Given the description of an element on the screen output the (x, y) to click on. 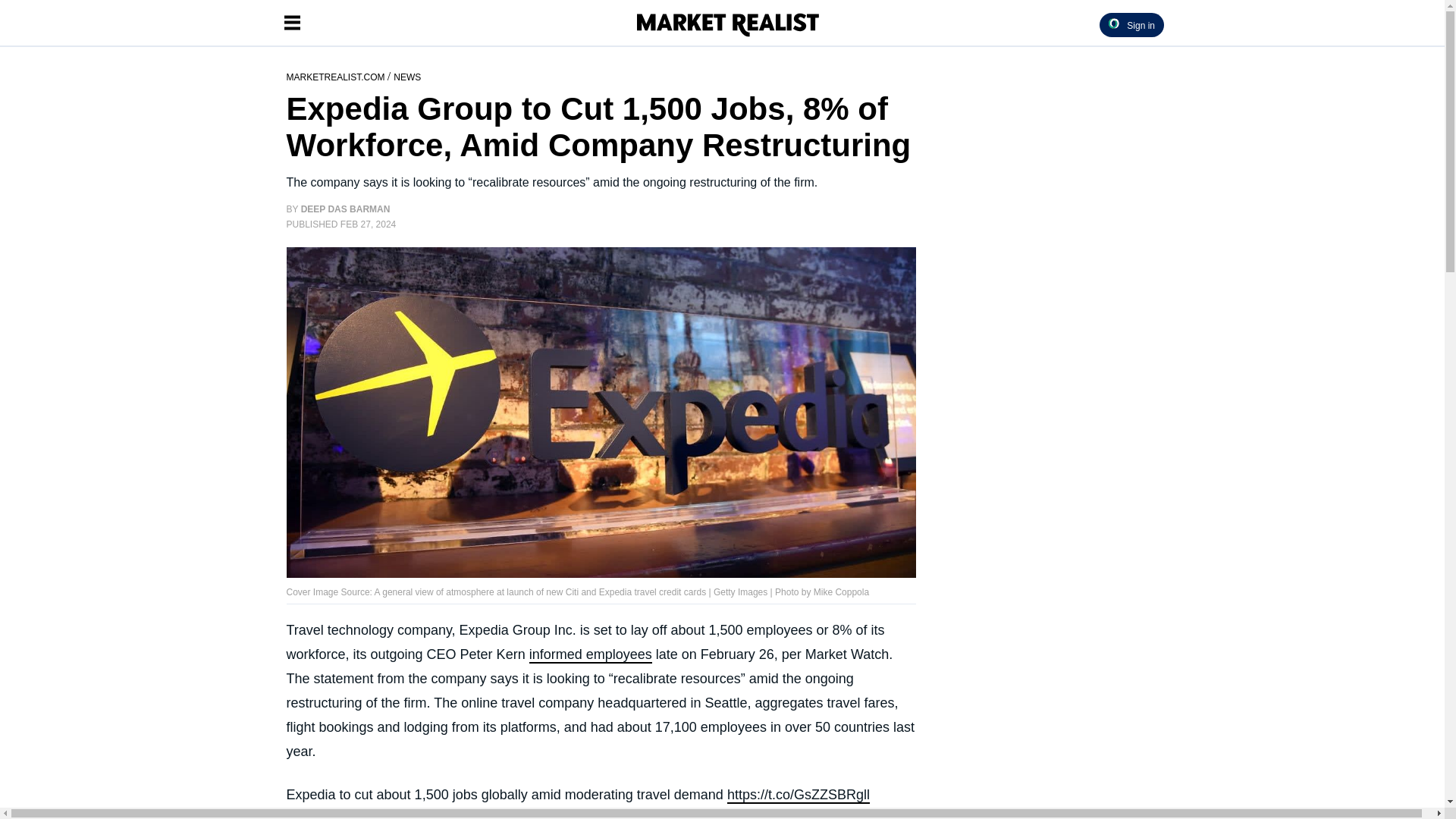
OpenPass Logo (1113, 23)
informed employees (590, 655)
DEEP DAS BARMAN (345, 208)
MARKETREALIST.COM (336, 75)
NEWS (406, 75)
Sign in (1131, 24)
